Given the description of an element on the screen output the (x, y) to click on. 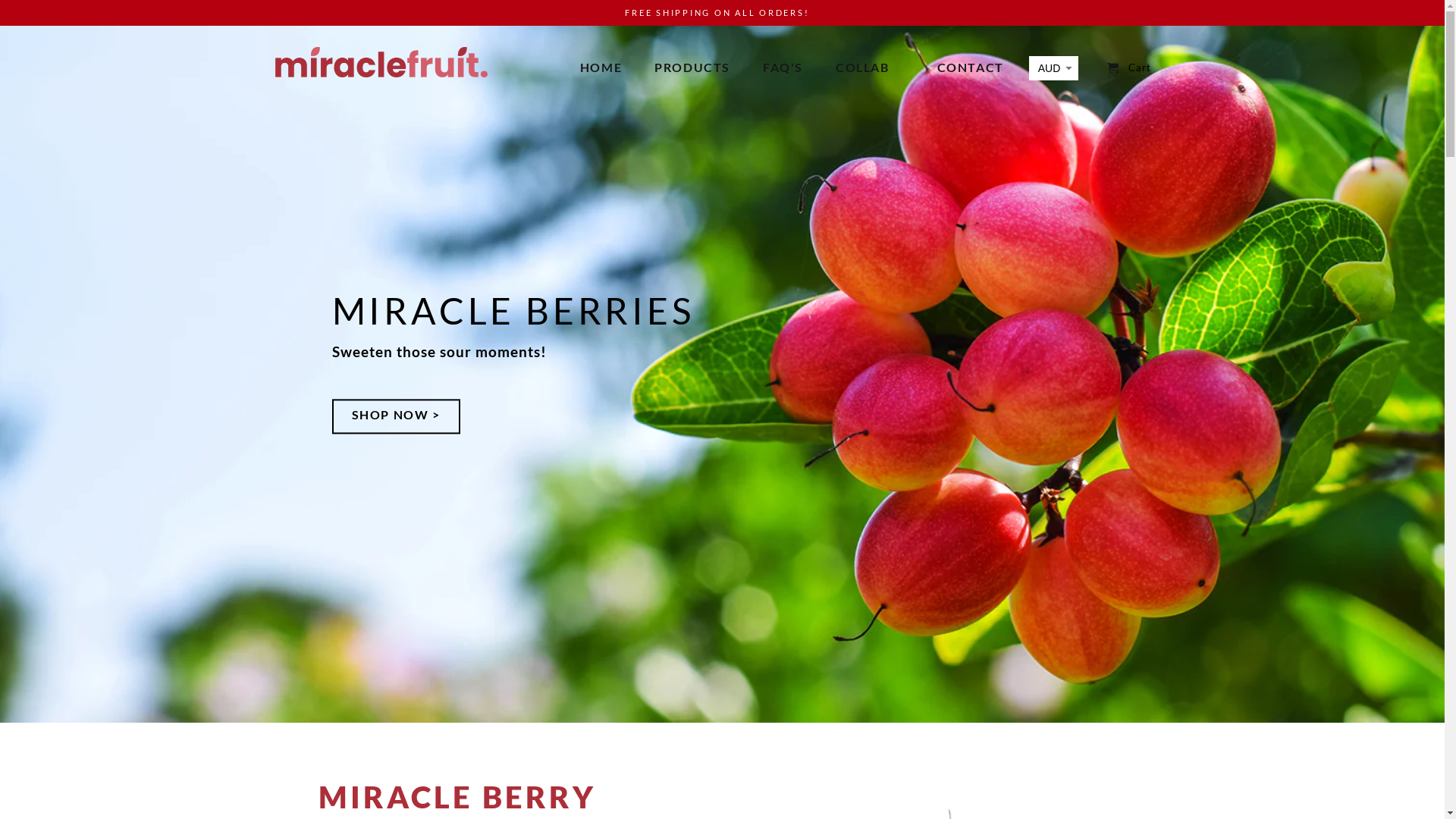
COLLAB Element type: text (862, 69)
Miracle Fruit Element type: hover (380, 57)
Cart Element type: text (1128, 67)
FAQ'S Element type: text (782, 69)
SHOP NOW > Element type: text (396, 415)
CONTACT Element type: text (970, 69)
MIRACLE BERRY Element type: text (491, 794)
HOME Element type: text (600, 69)
PRODUCTS Element type: text (692, 69)
